Given the description of an element on the screen output the (x, y) to click on. 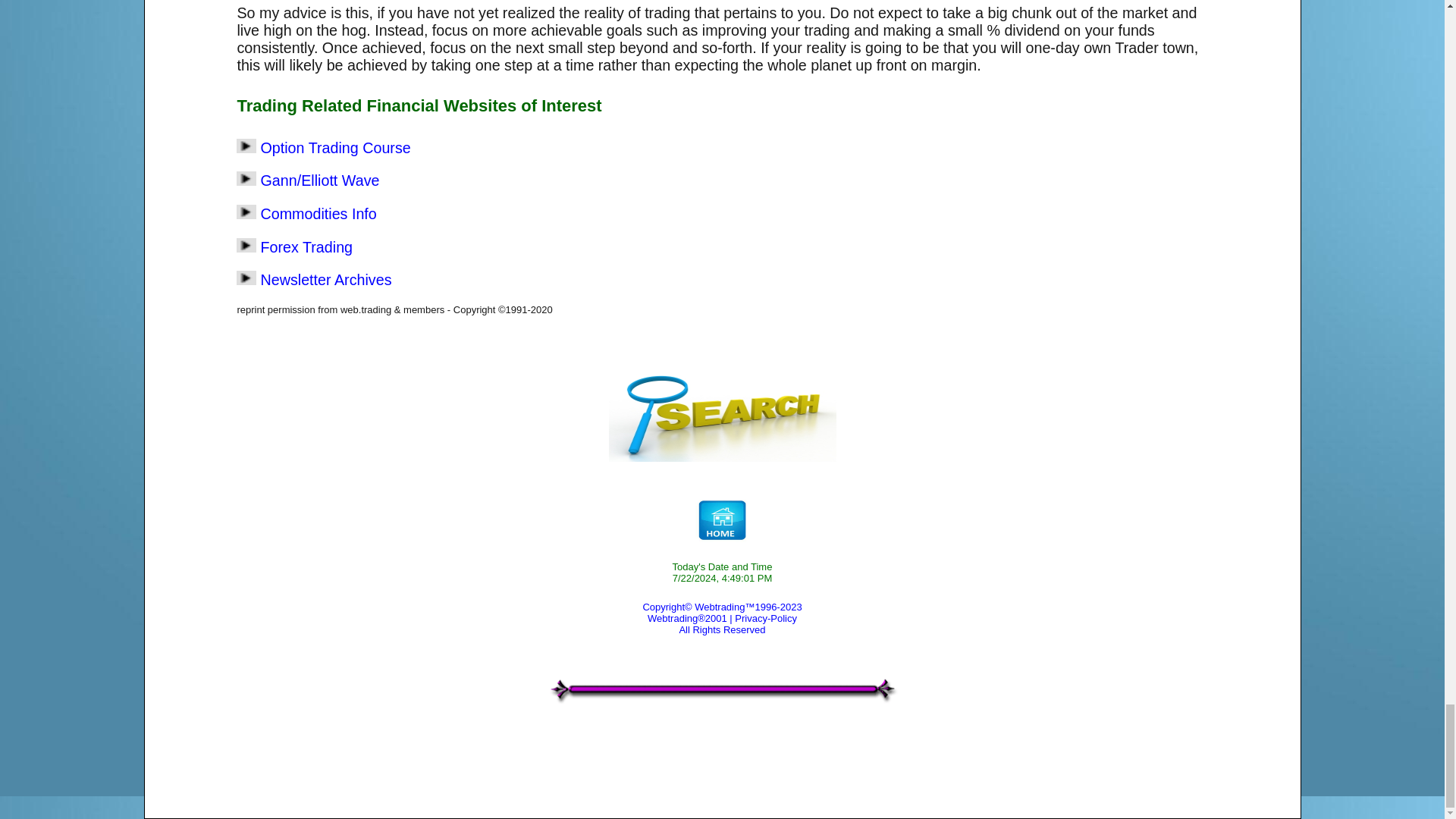
Newsletter Archives (325, 279)
Privacy-Policy (765, 618)
go to featured domain names and websites (721, 689)
Forex Trading (306, 247)
Option Trading Course (335, 147)
Commodities Info (317, 213)
